Given the description of an element on the screen output the (x, y) to click on. 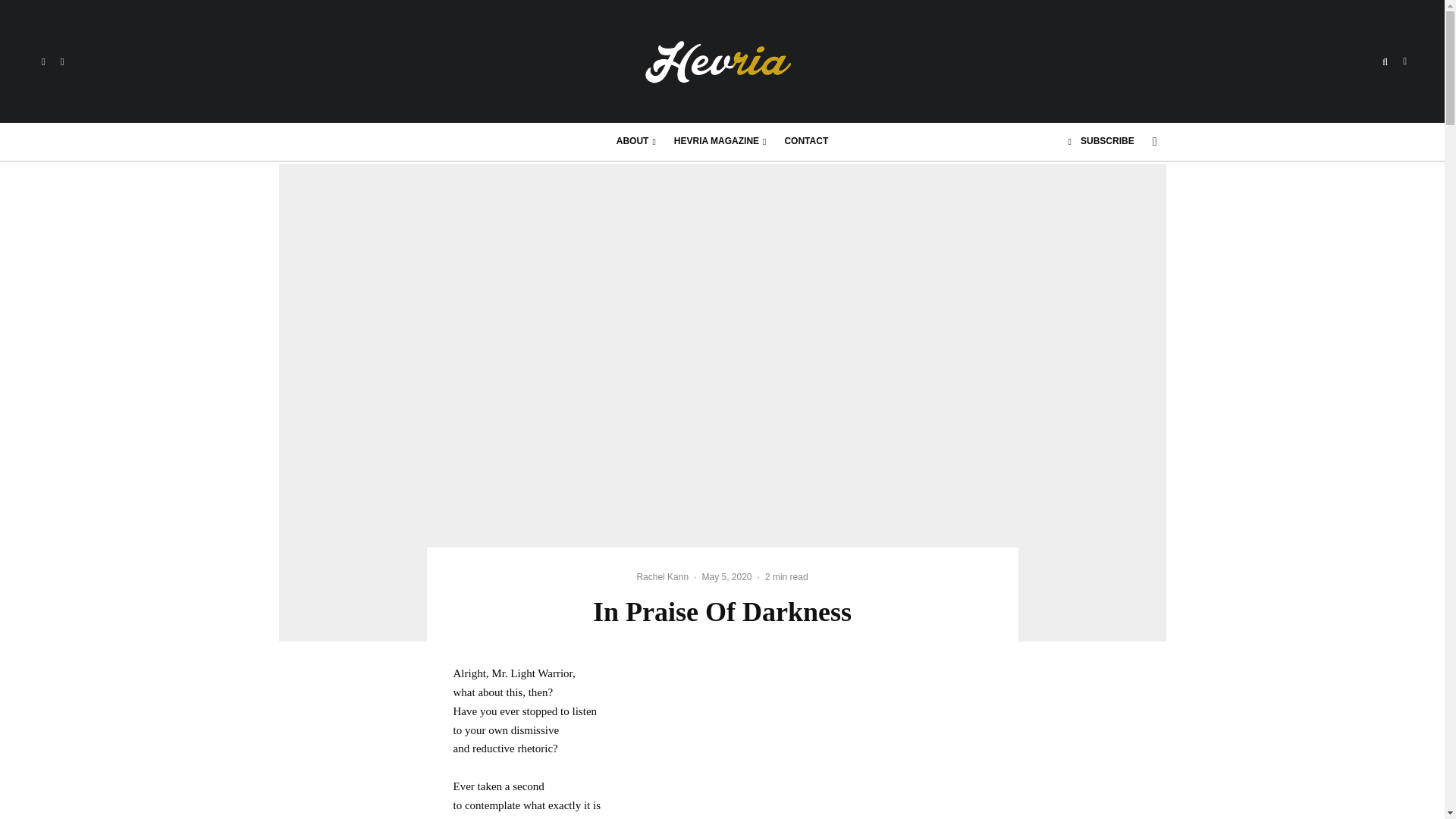
HEVRIA MAGAZINE (720, 141)
CONTACT (805, 141)
ABOUT (636, 141)
Rachel Kann (662, 576)
SUBSCRIBE (1100, 141)
